Given the description of an element on the screen output the (x, y) to click on. 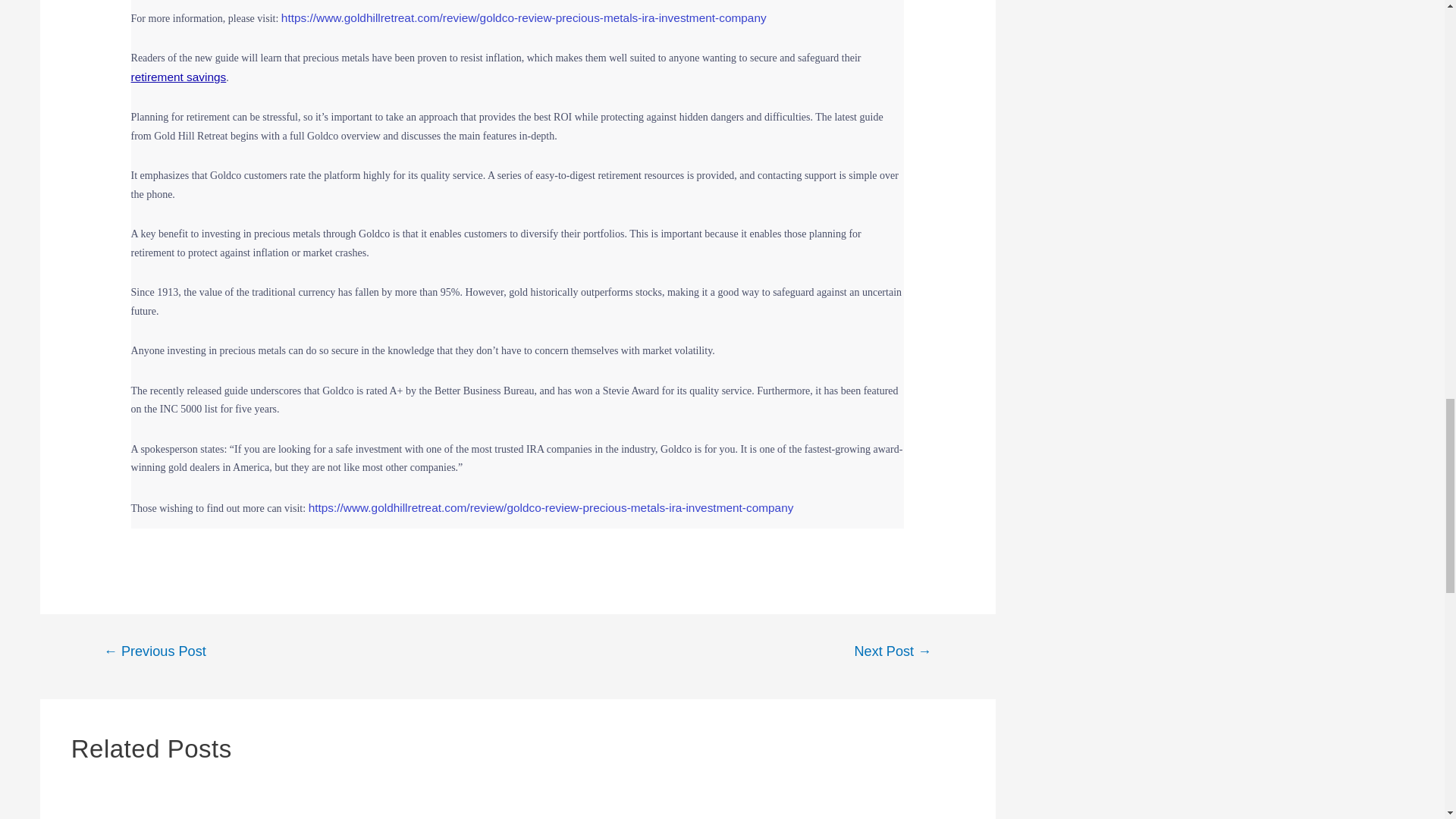
retirement savings (179, 76)
